Given the description of an element on the screen output the (x, y) to click on. 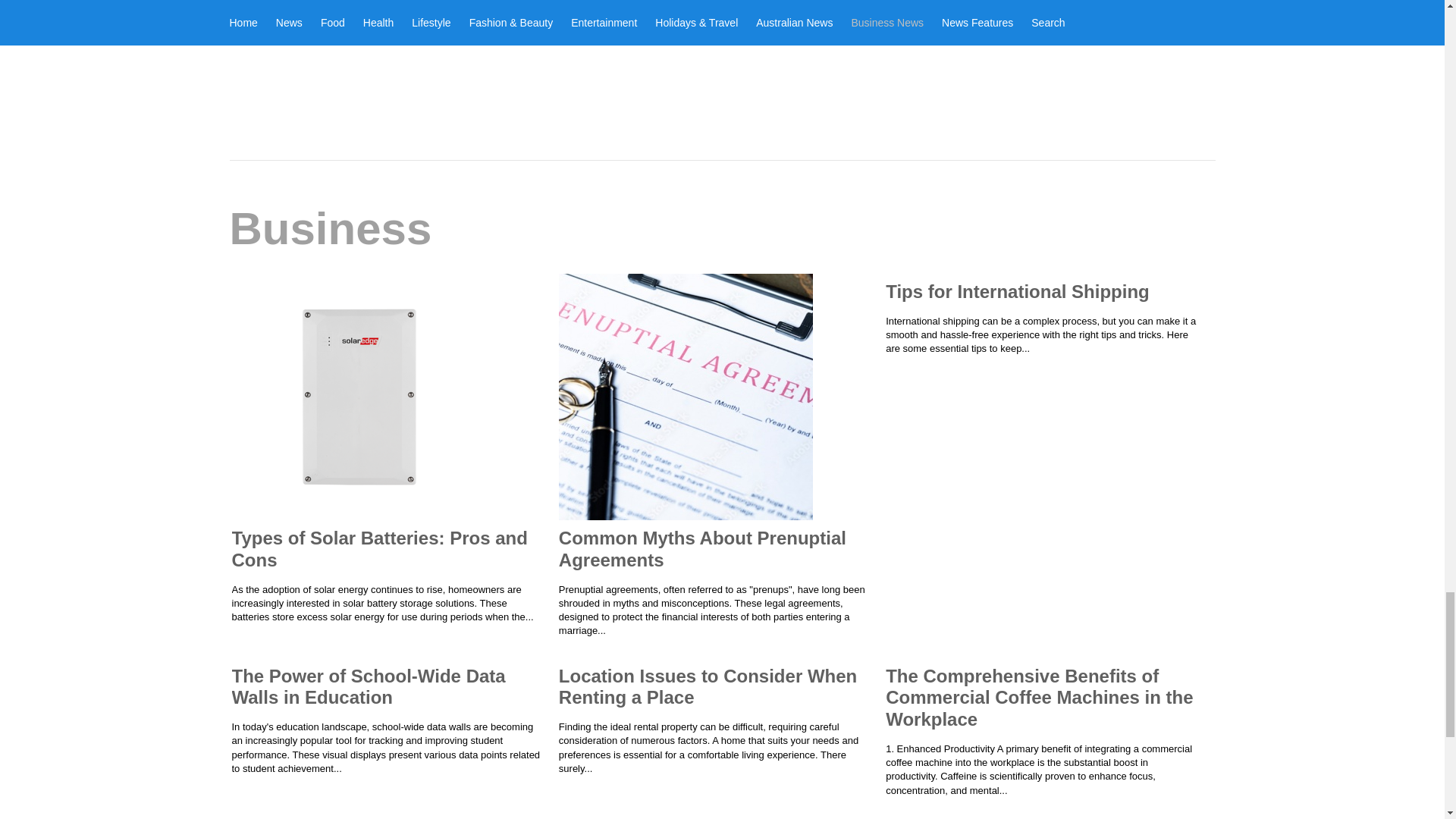
Common Myths About Prenuptial Agreements (702, 548)
Tips for International Shipping (1017, 291)
The Power of School-Wide Data Walls in Education (368, 686)
Location Issues to Consider When Renting a Place (708, 686)
Types of Solar Batteries: Pros and Cons (379, 548)
Tips for International Shipping (1017, 291)
The Power of School-Wide Data Walls in Education (368, 686)
Common Myths About Prenuptial Agreements (702, 548)
Types of Solar Batteries: Pros and Cons (379, 548)
Location Issues to Consider When Renting a Place (708, 686)
